Given the description of an element on the screen output the (x, y) to click on. 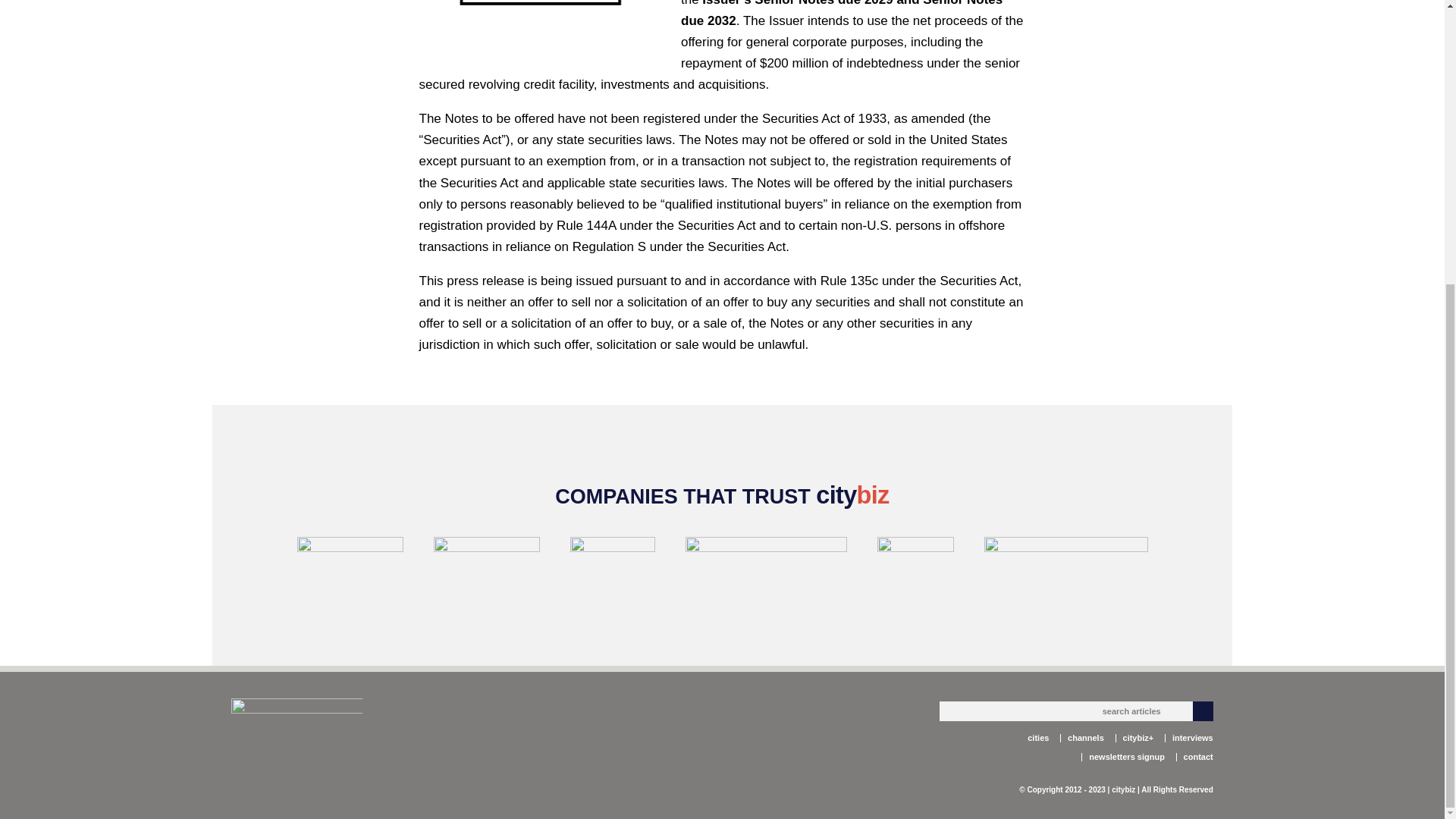
Midfield Realty (350, 563)
Rosenberg Martin Greenberg, LLP (766, 563)
St. John Properties (1066, 563)
Hyatt Commercial Real Estate (486, 563)
Search (1202, 711)
Search (1202, 711)
Monday Properties (612, 563)
